Given the description of an element on the screen output the (x, y) to click on. 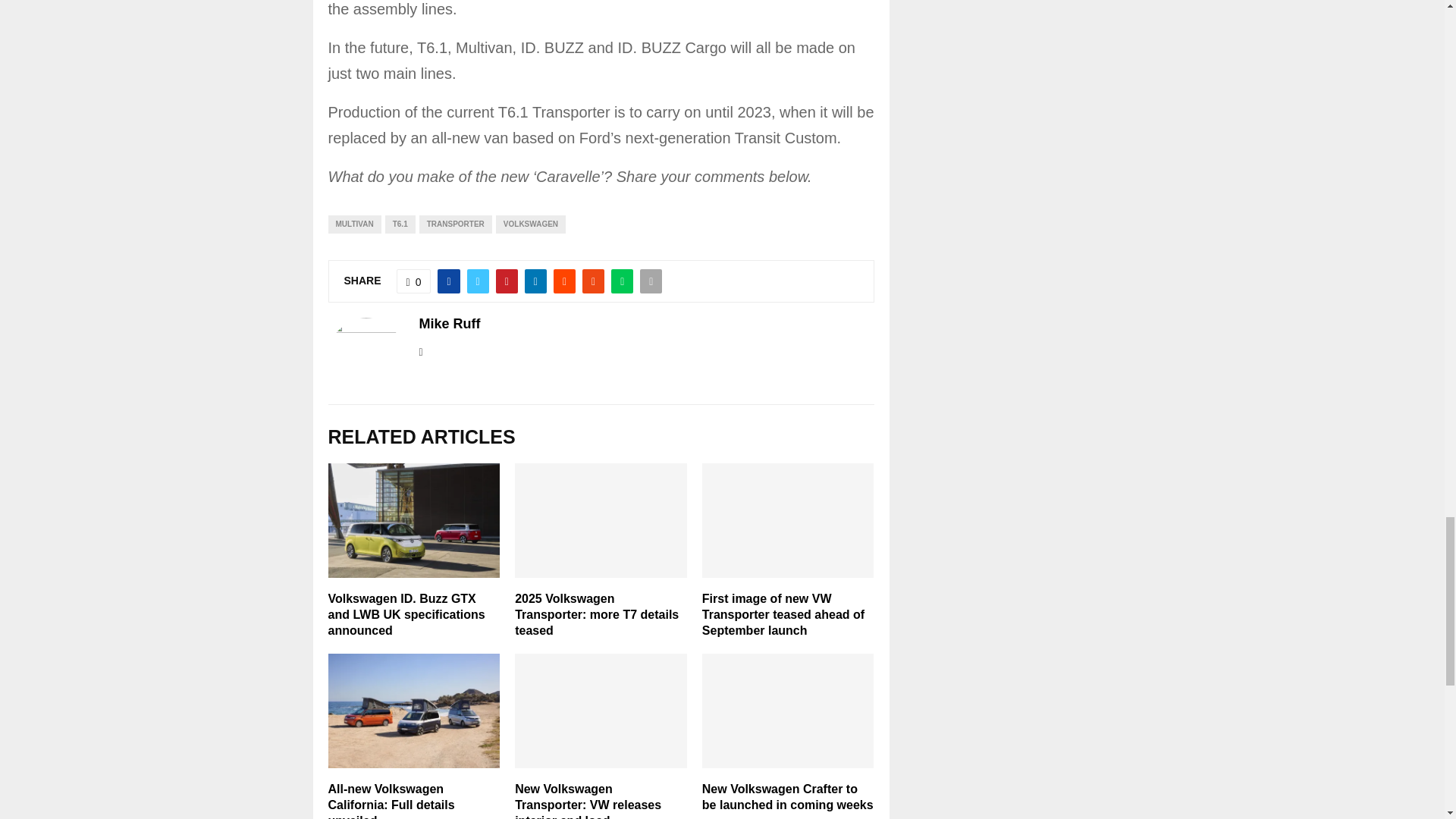
Like (413, 281)
